Given the description of an element on the screen output the (x, y) to click on. 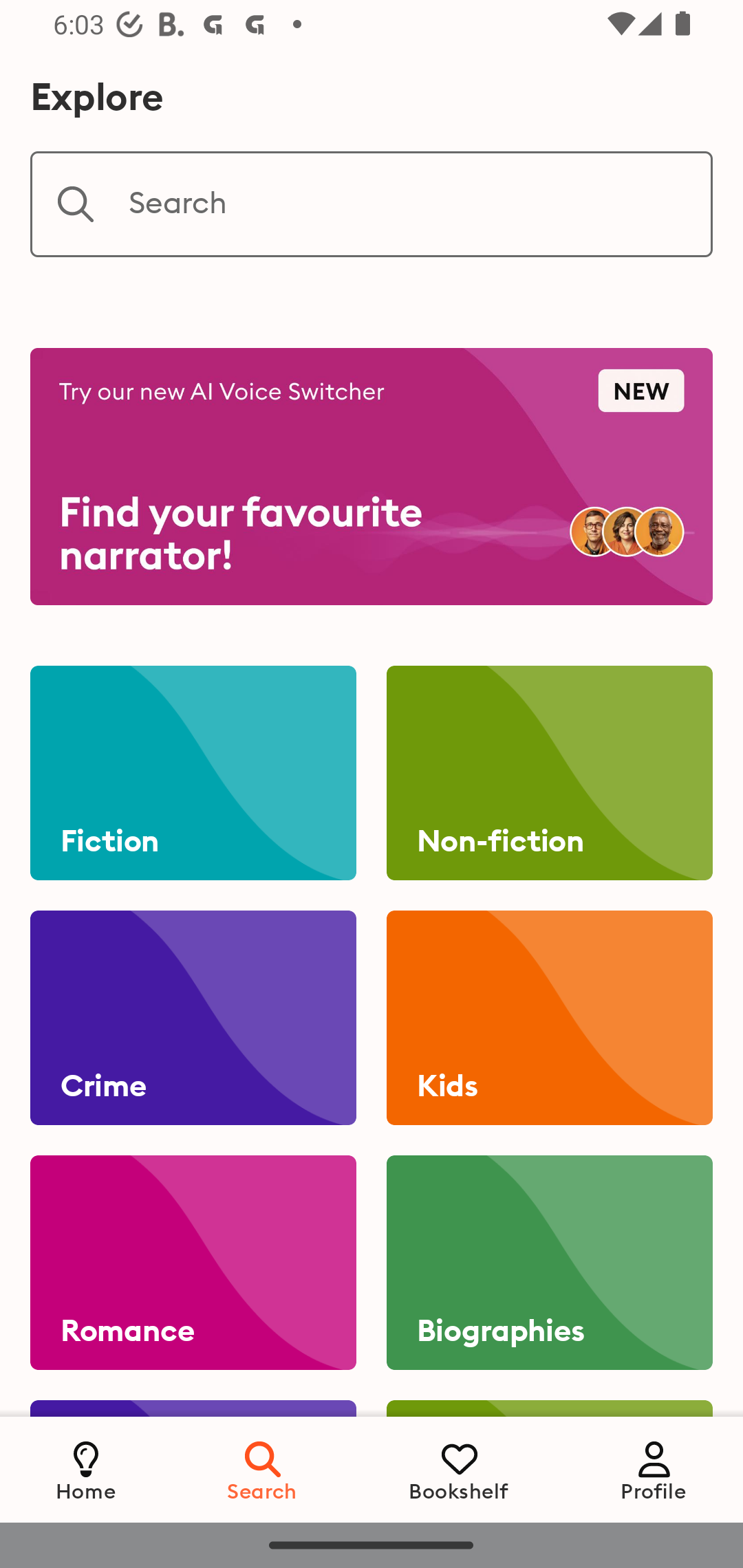
Search (371, 203)
Fiction (193, 772)
Non-fiction (549, 772)
Crime (193, 1018)
Kids (549, 1018)
Romance (193, 1262)
Biographies (549, 1262)
Home (85, 1468)
Search (262, 1468)
Bookshelf (458, 1468)
Profile (653, 1468)
